Given the description of an element on the screen output the (x, y) to click on. 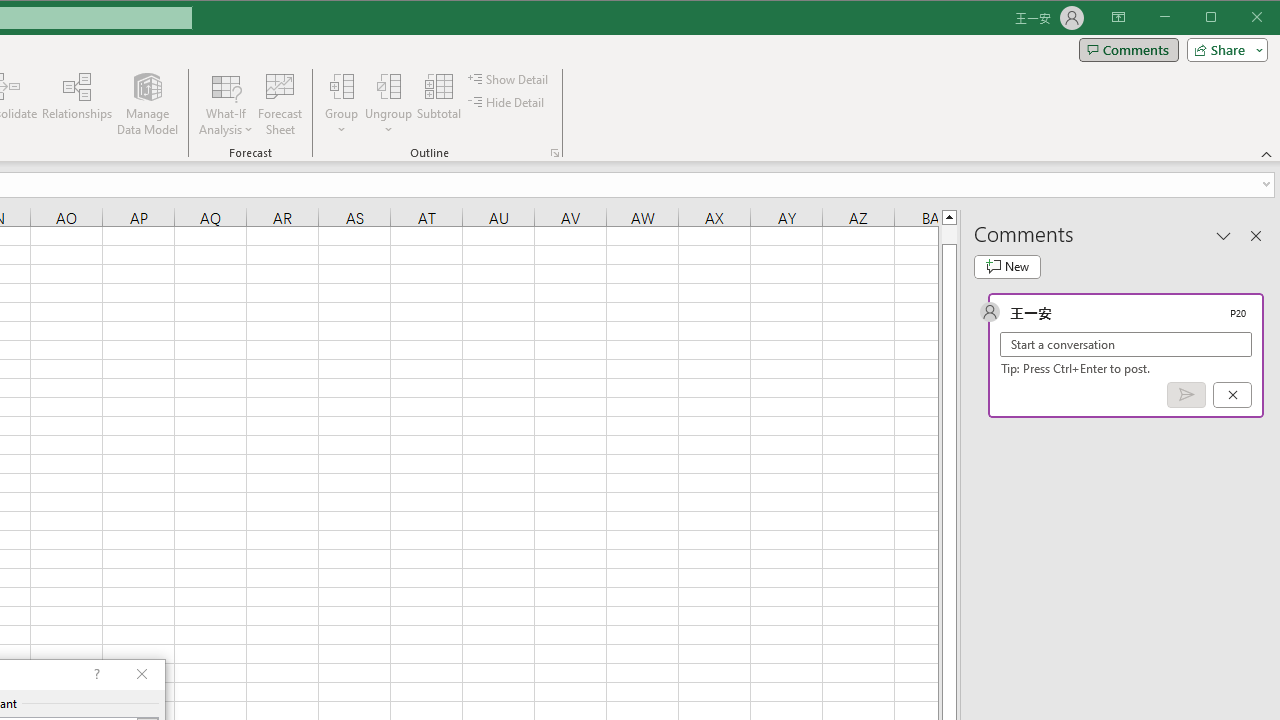
Post comment (Ctrl + Enter) (1186, 395)
